Given the description of an element on the screen output the (x, y) to click on. 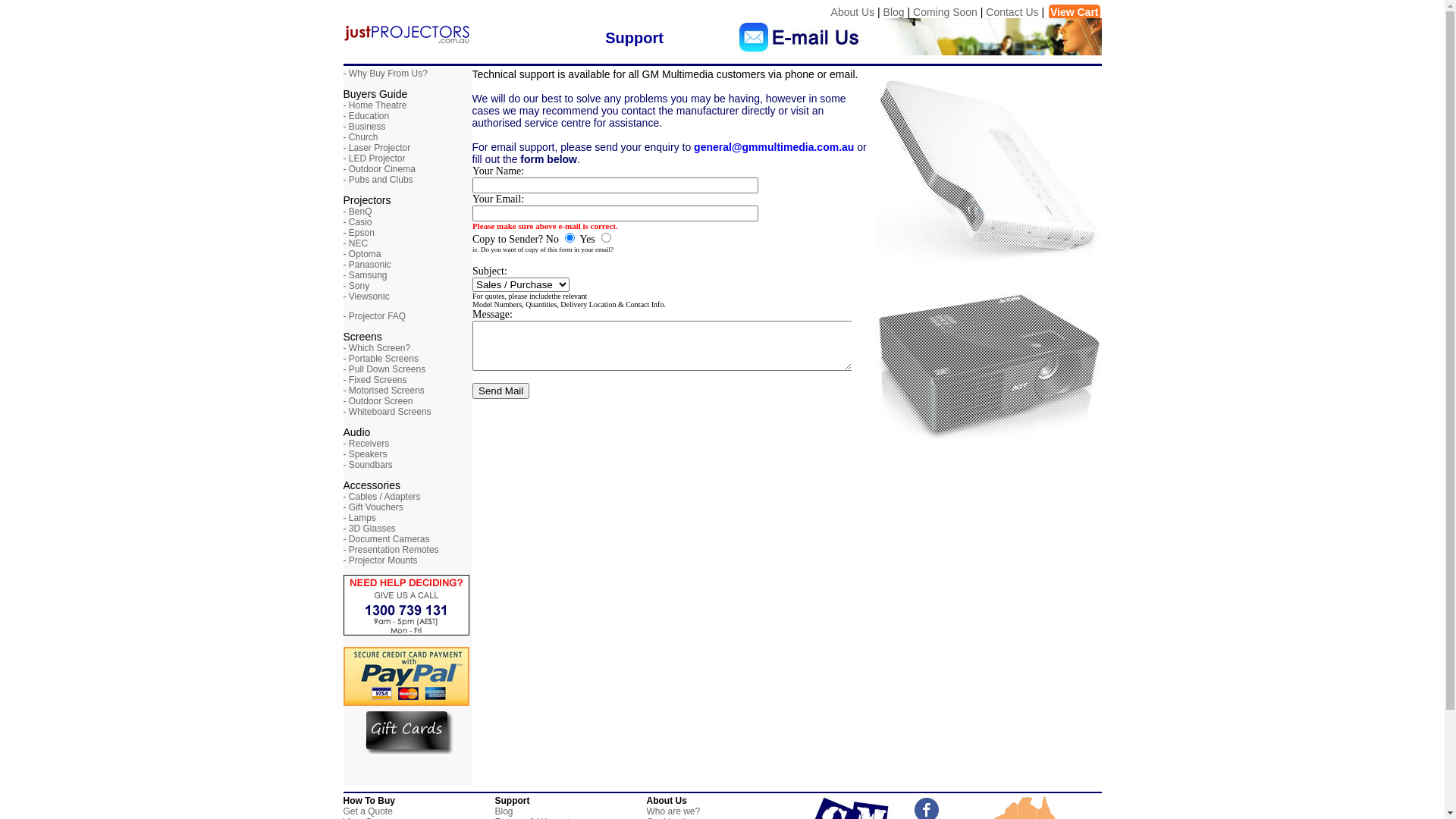
- Church Element type: text (359, 136)
- BenQ Element type: text (356, 211)
- Presentation Remotes Element type: text (390, 549)
- Why Buy From Us? Element type: text (384, 73)
- Business Element type: text (363, 126)
- 3D Glasses Element type: text (368, 528)
View Cart Element type: text (1074, 11)
- Document Cameras Element type: text (385, 538)
- Whiteboard Screens Element type: text (386, 411)
- Outdoor Screen Element type: text (377, 400)
- Fixed Screens Element type: text (374, 379)
About Us Element type: text (853, 12)
Get a Quote Element type: text (367, 811)
- Viewsonic Element type: text (365, 296)
Contact Us Element type: text (1011, 12)
- Home Theatre Element type: text (374, 105)
Blog Element type: text (893, 12)
- Speakers Element type: text (364, 453)
- Epson Element type: text (357, 232)
- Which Screen? Element type: text (376, 347)
- Casio Element type: text (356, 221)
- Samsung Element type: text (364, 274)
- LED Projector Element type: text (373, 158)
- Education Element type: text (365, 115)
- Projector Mounts Element type: text (379, 560)
- Sony Element type: text (355, 285)
- Laser Projector Element type: text (376, 147)
- Outdoor Cinema Element type: text (378, 168)
- Optoma Element type: text (361, 253)
- Receivers Element type: text (365, 443)
- Pubs and Clubs Element type: text (377, 179)
- Gift Vouchers Element type: text (372, 507)
- Cables / Adapters Element type: text (381, 496)
- Pull Down Screens Element type: text (383, 369)
Blog Element type: text (503, 811)
general@gmmultimedia.com.au Element type: text (773, 147)
Who are we? Element type: text (672, 811)
- Panasonic Element type: text (366, 264)
- Motorised Screens Element type: text (382, 390)
- Soundbars Element type: text (367, 464)
- Projector FAQ Element type: text (373, 315)
- Lamps Element type: text (358, 517)
- NEC Element type: text (354, 243)
- Portable Screens Element type: text (379, 358)
Coming Soon Element type: text (945, 12)
